Given the description of an element on the screen output the (x, y) to click on. 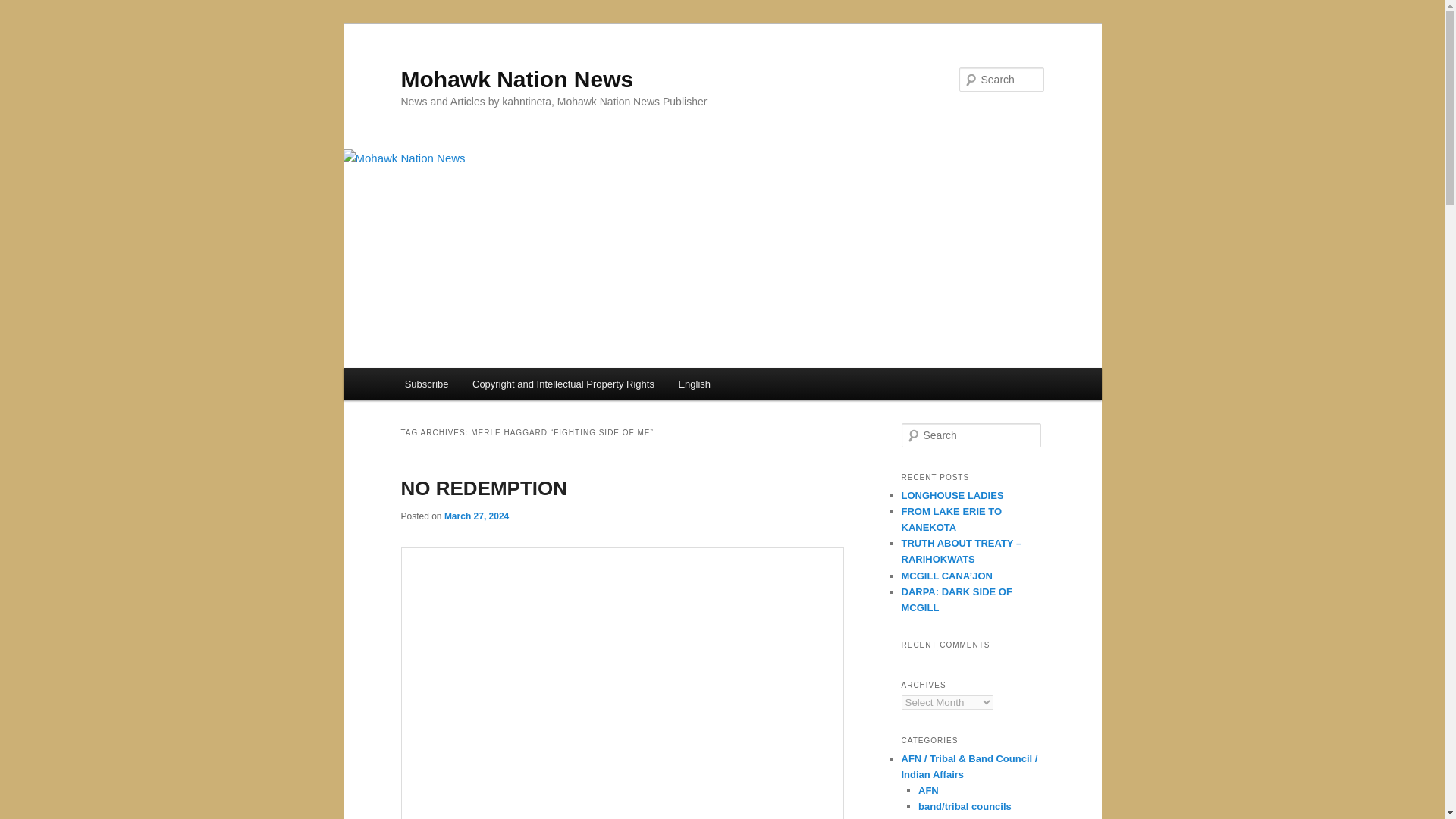
English (694, 383)
Mohawk Nation News (516, 78)
11:39 pm (476, 516)
Search (24, 8)
NO REDEMPTION (483, 487)
Subscribe (426, 383)
Copyright and Intellectual Property Rights (562, 383)
March 27, 2024 (476, 516)
